Given the description of an element on the screen output the (x, y) to click on. 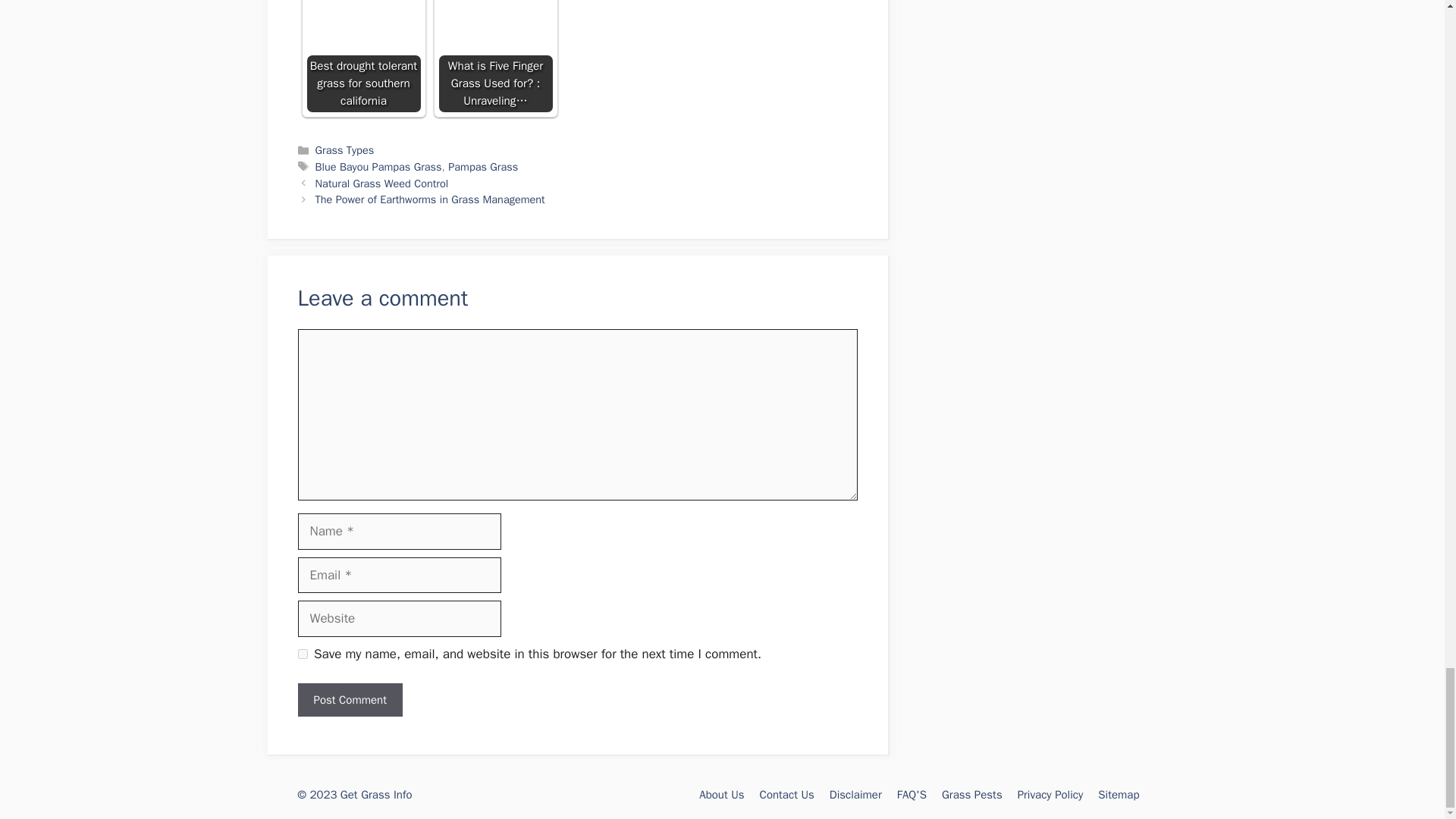
Grass Types (344, 150)
Best drought tolerant grass for southern california (362, 56)
Blue Bayou Pampas Grass (378, 166)
The Power of Earthworms in Grass Management (429, 199)
Best drought tolerant grass for southern california (362, 56)
yes (302, 654)
Post Comment (349, 700)
Natural Grass Weed Control (381, 183)
Pampas Grass (483, 166)
